Given the description of an element on the screen output the (x, y) to click on. 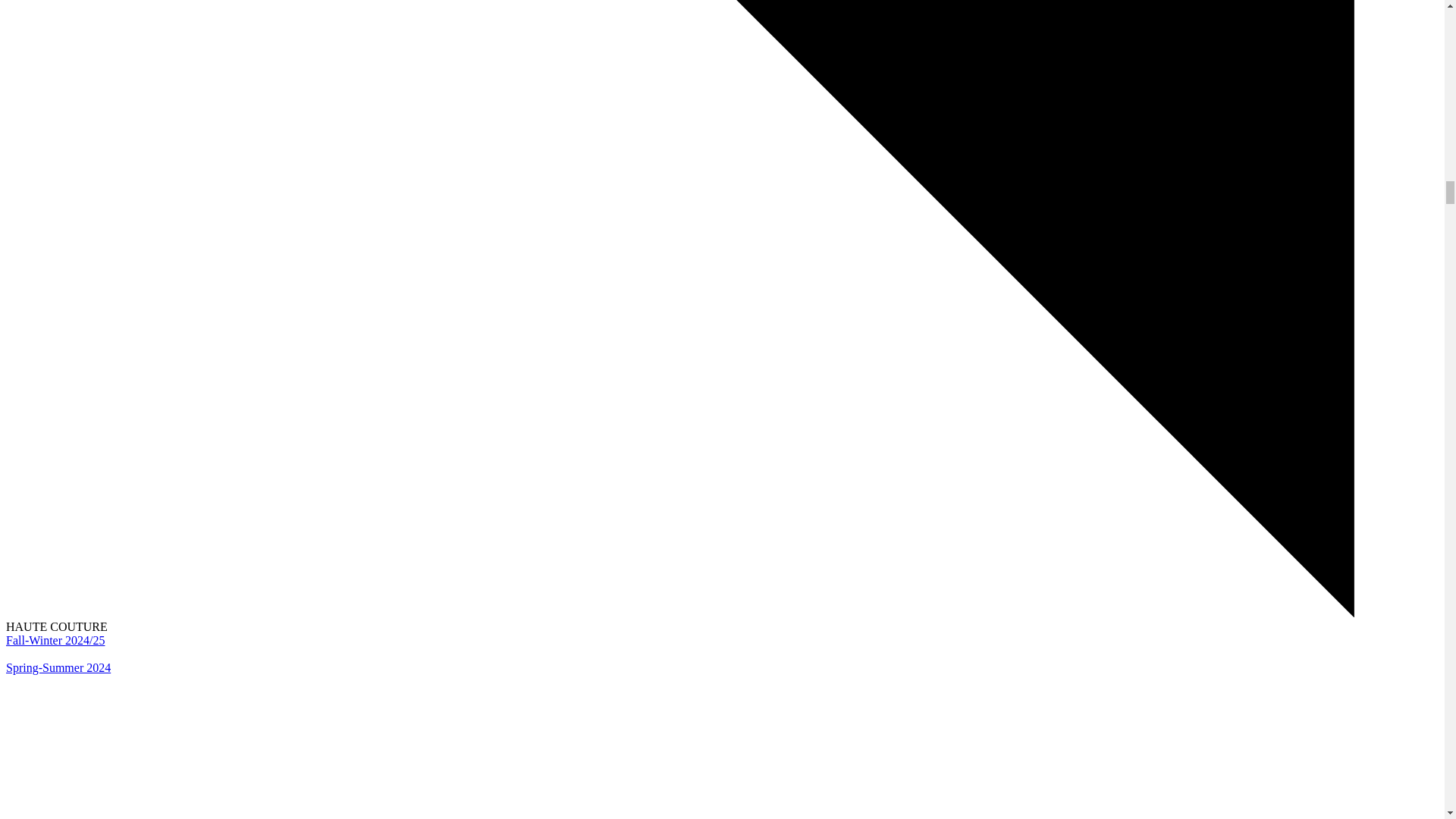
Spring-Summer 2024 (57, 667)
